Given the description of an element on the screen output the (x, y) to click on. 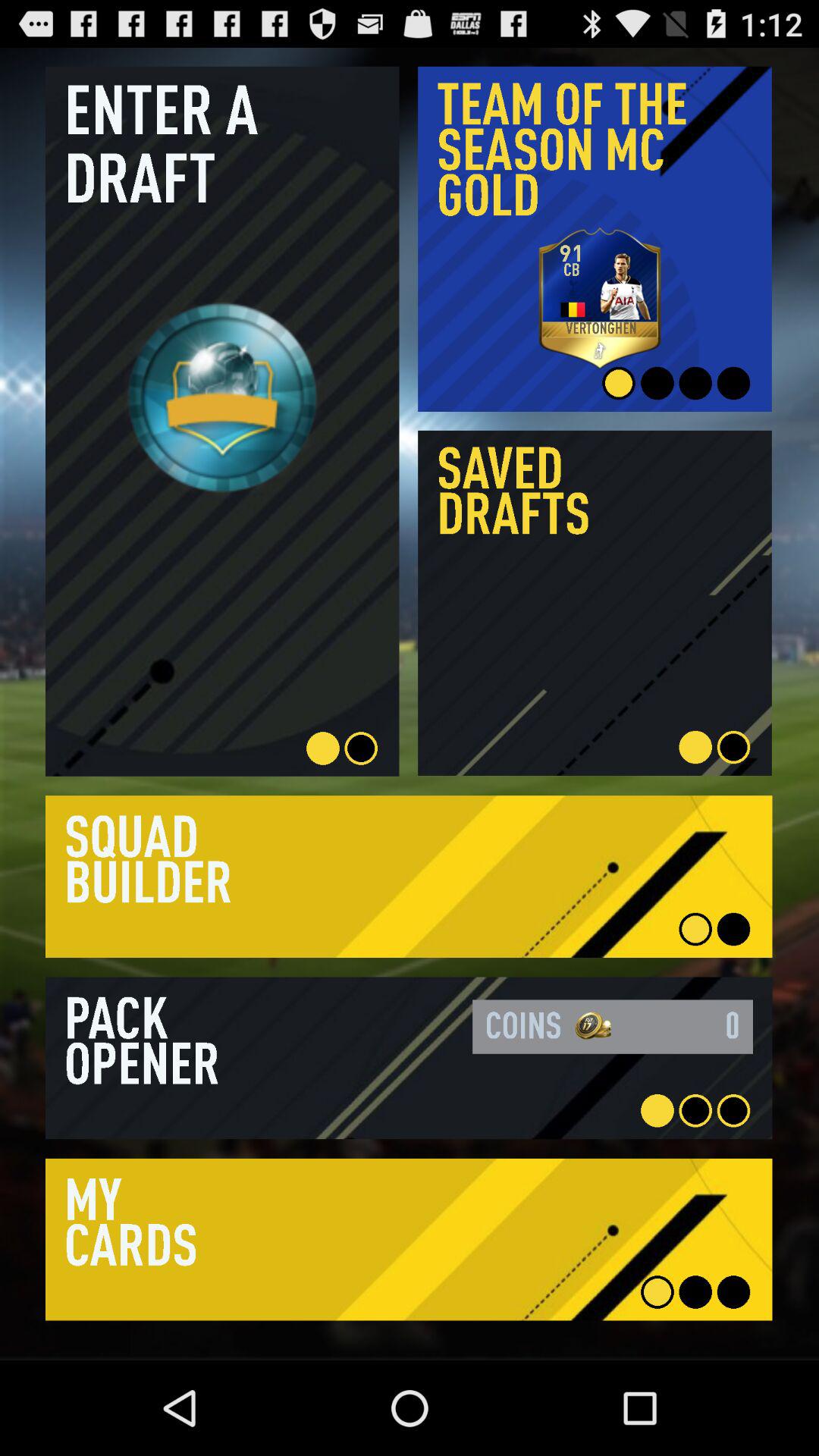
saved drafts (594, 602)
